Given the description of an element on the screen output the (x, y) to click on. 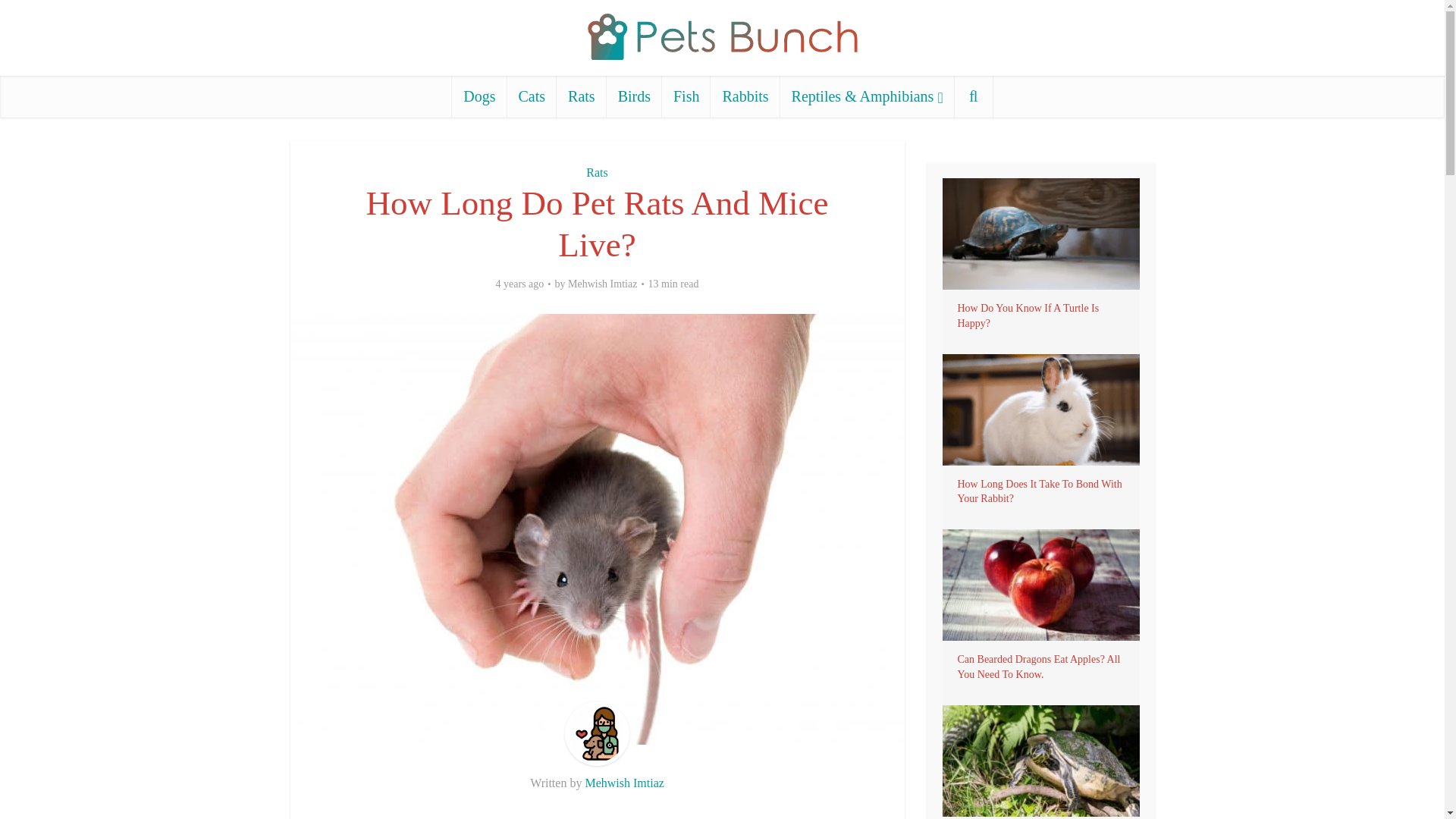
Fish (686, 96)
Rats (581, 96)
Birds (634, 96)
Mehwish Imtiaz (624, 782)
Mehwish Imtiaz (602, 284)
Rabbits (744, 96)
Dogs (478, 96)
Rats (596, 172)
Cats (531, 96)
